Given the description of an element on the screen output the (x, y) to click on. 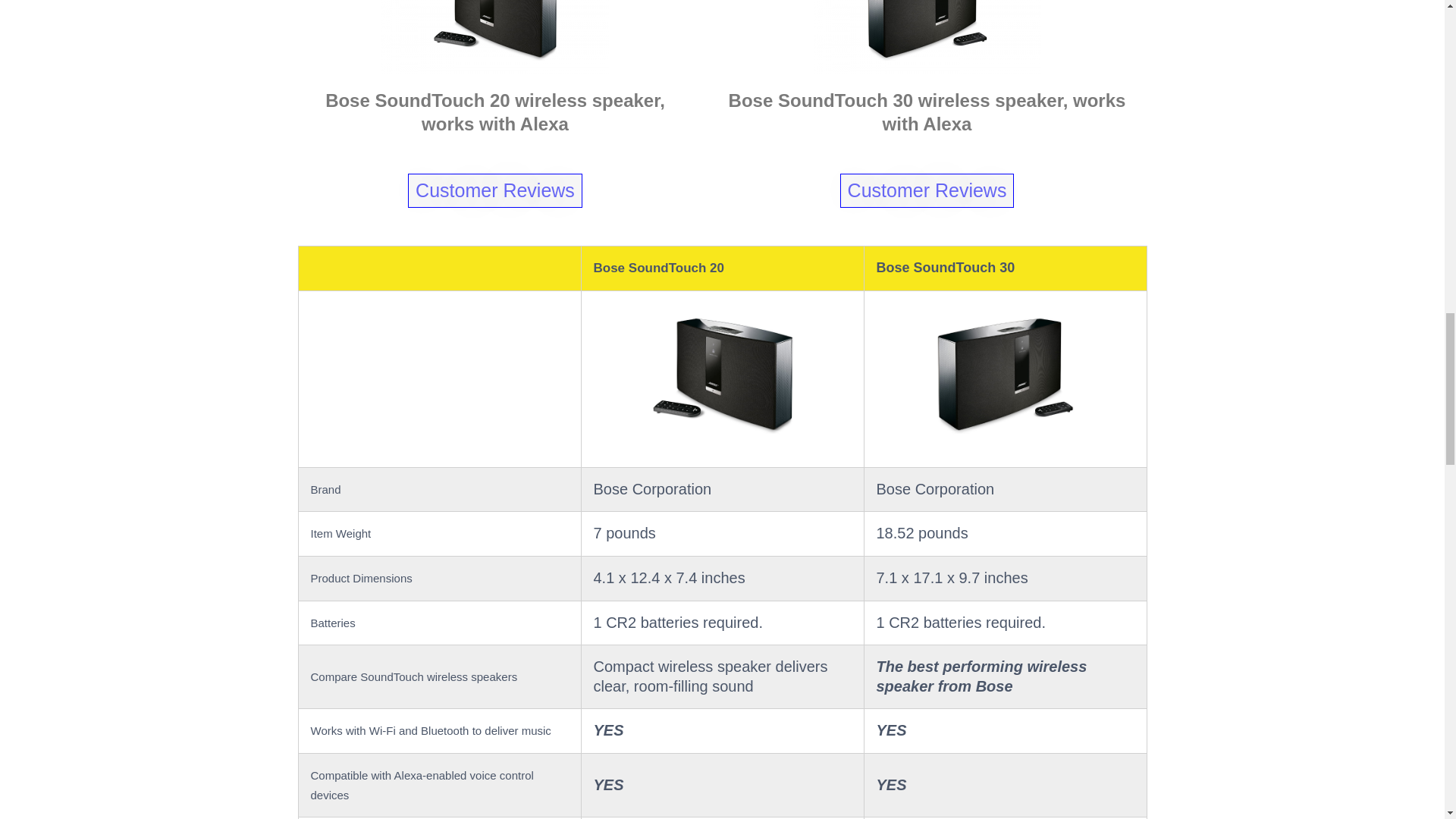
Customer Reviews (927, 190)
Customer Reviews (494, 190)
